Given the description of an element on the screen output the (x, y) to click on. 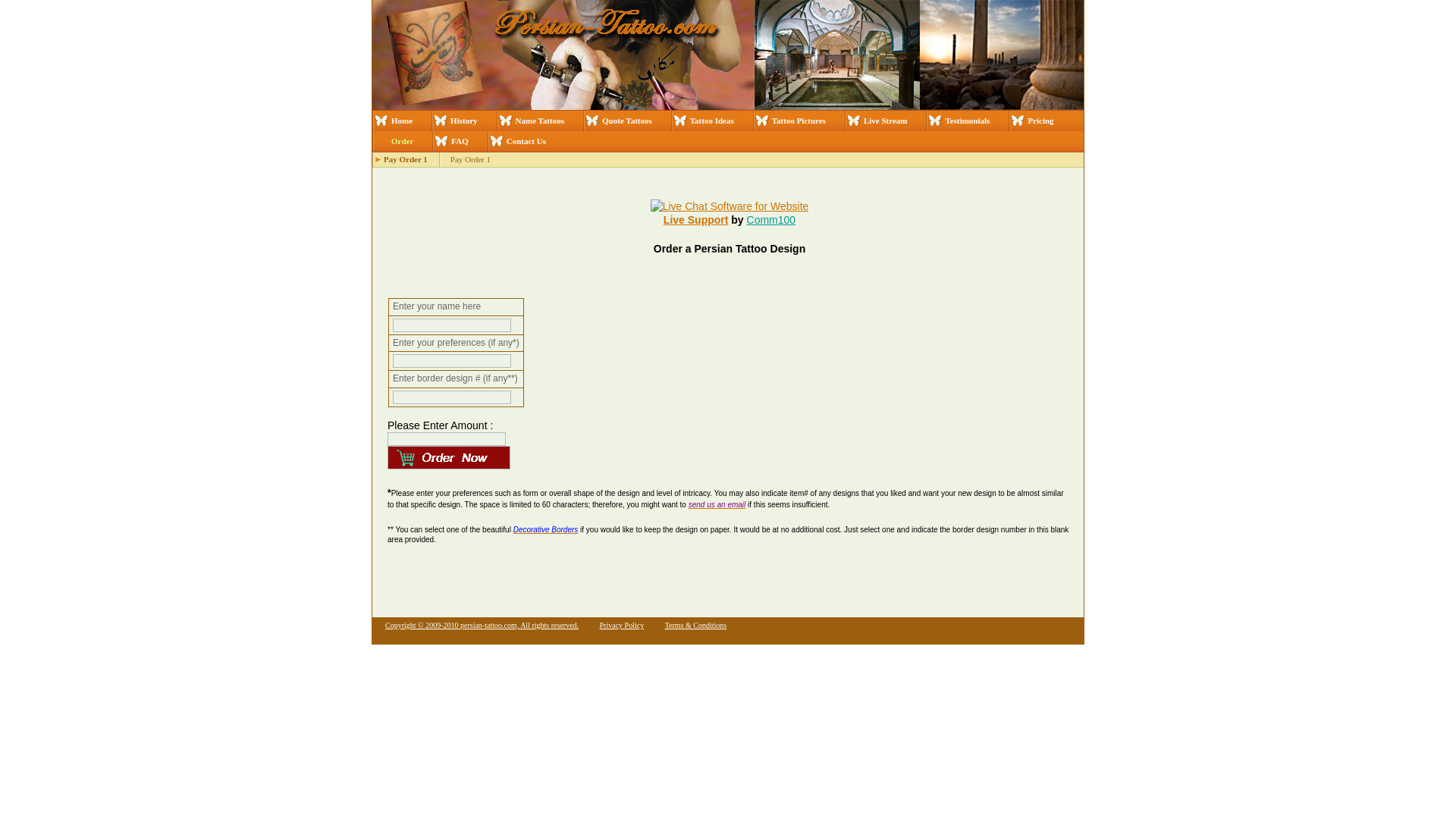
Comm100 (771, 219)
FAQ (459, 141)
Privacy Policy (622, 624)
Live Chat Software for Website (729, 205)
Testimonials (967, 120)
Pay Order 1 (470, 159)
Pay Order 1 (405, 159)
Live Stream (885, 120)
Quote Tattoos (627, 120)
Decorative Borders (545, 529)
Name Tattoos (539, 120)
Tattoo Ideas (711, 120)
Contact Us (525, 141)
Tattoo Pictures (798, 120)
Home (401, 120)
